Given the description of an element on the screen output the (x, y) to click on. 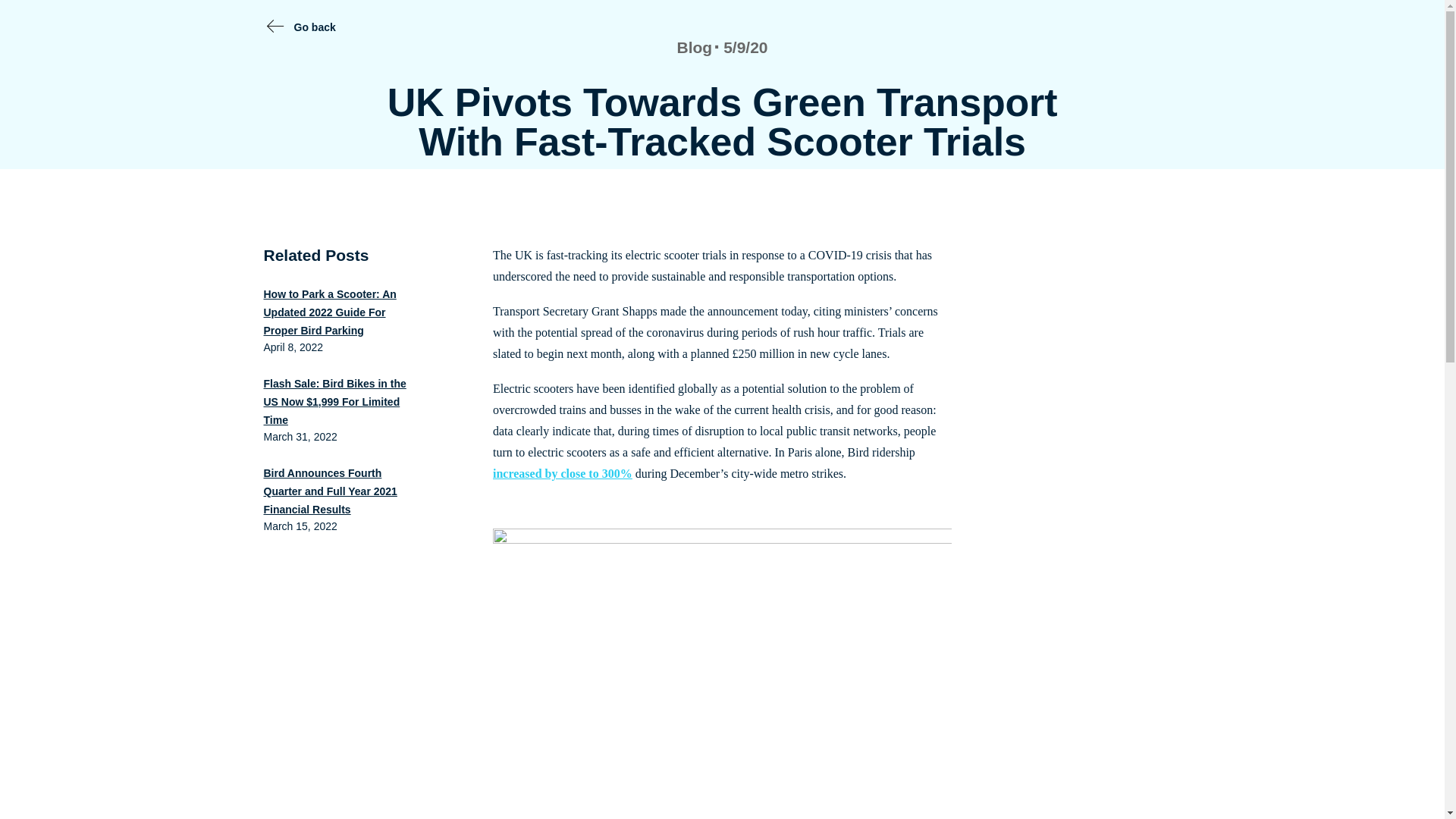
Go back (315, 27)
Go back (315, 27)
